Given the description of an element on the screen output the (x, y) to click on. 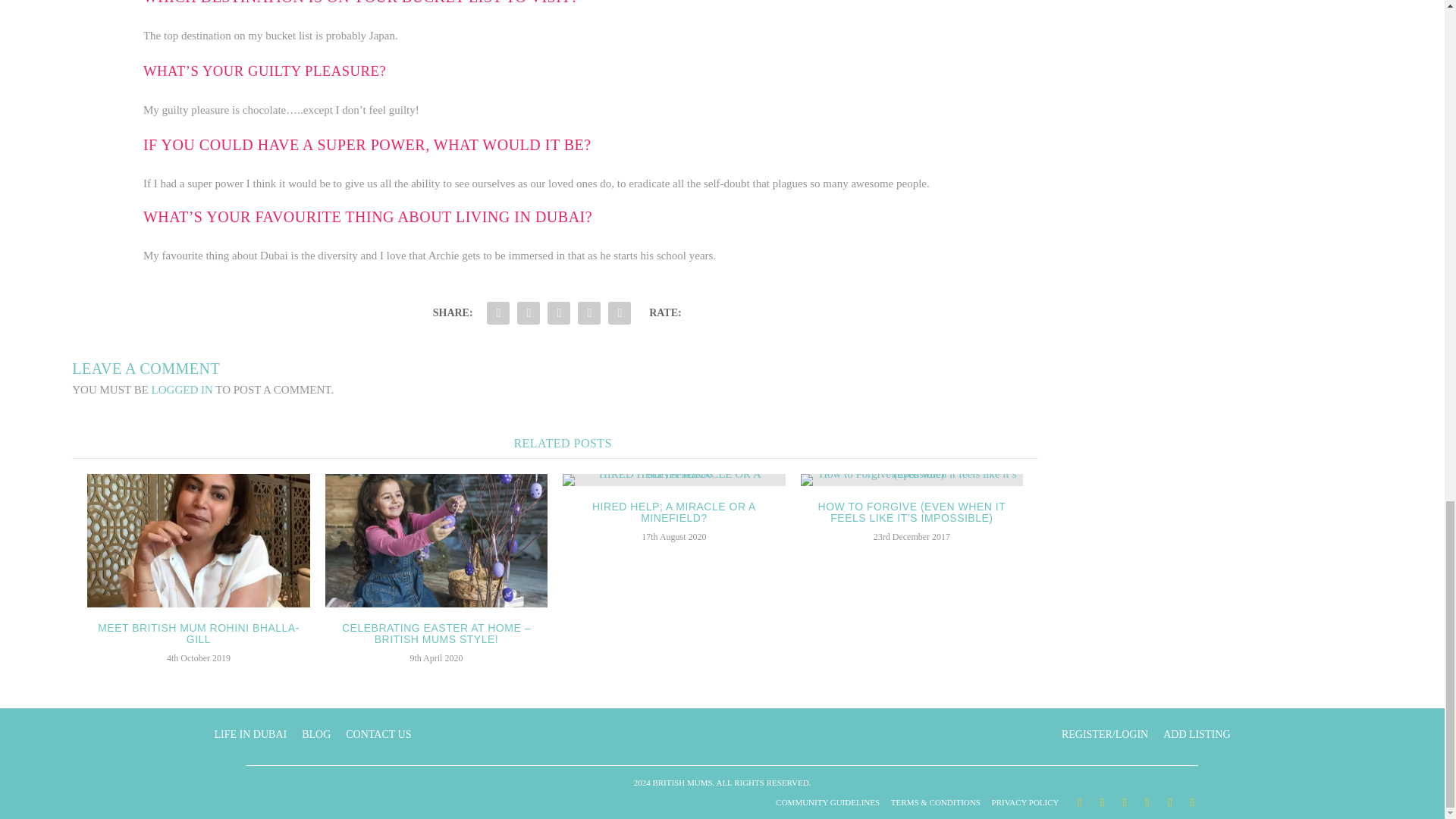
Share "Meet British Mum Nikki Steele Osborne" via Facebook (498, 313)
Share "Meet British Mum Nikki Steele Osborne" via Email (588, 313)
Share "Meet British Mum Nikki Steele Osborne" via Pinterest (558, 313)
HIRED HELP; A MIRACLE OR A MINEFIELD? (673, 480)
Share "Meet British Mum Nikki Steele Osborne" via Print (619, 313)
Meet British Mum Rohini Bhalla-Gill (197, 540)
Share "Meet British Mum Nikki Steele Osborne" via Twitter (528, 313)
